Given the description of an element on the screen output the (x, y) to click on. 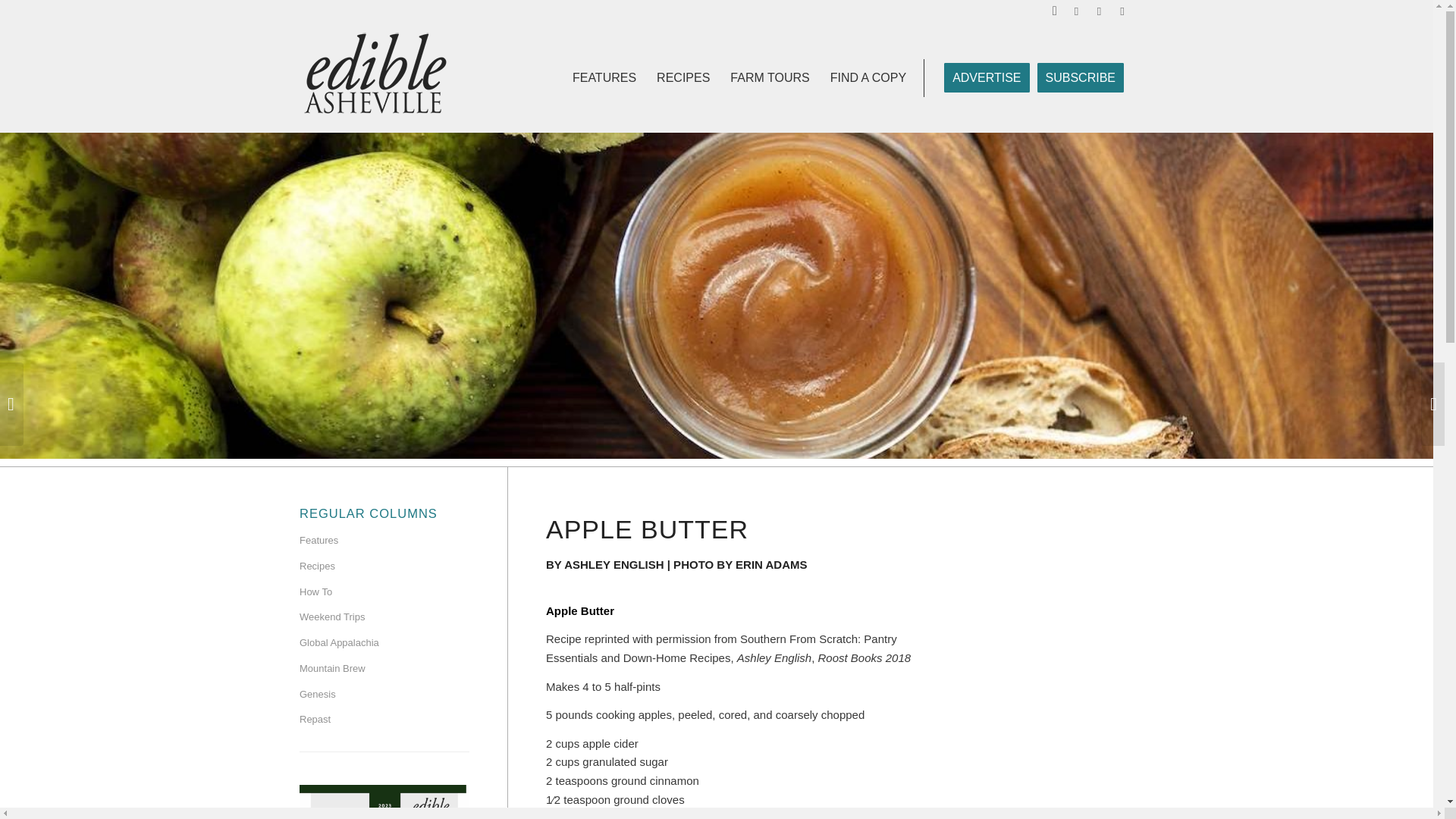
Edible-Asheville-Logo (375, 73)
Features (383, 541)
Page 17 (736, 710)
Facebook (1076, 11)
How To (383, 592)
Global Appalachia (383, 643)
Instagram (1098, 11)
Recipes (383, 566)
FARM TOURS (768, 77)
Edible-Asheville-Logo (375, 77)
Mountain Brew (383, 669)
X (1122, 11)
Weekend Trips (383, 617)
Repast (383, 720)
Genesis (383, 695)
